Given the description of an element on the screen output the (x, y) to click on. 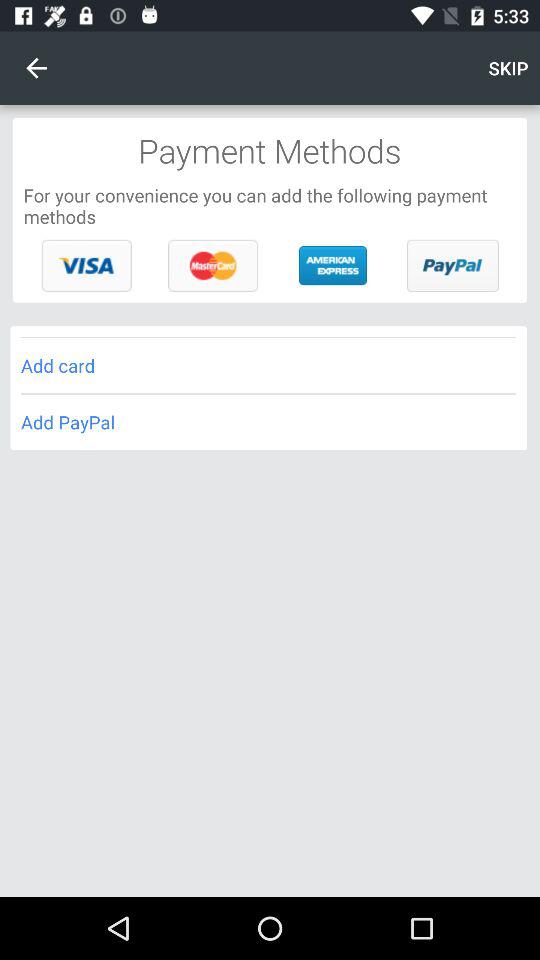
open the add paypal icon (268, 422)
